Given the description of an element on the screen output the (x, y) to click on. 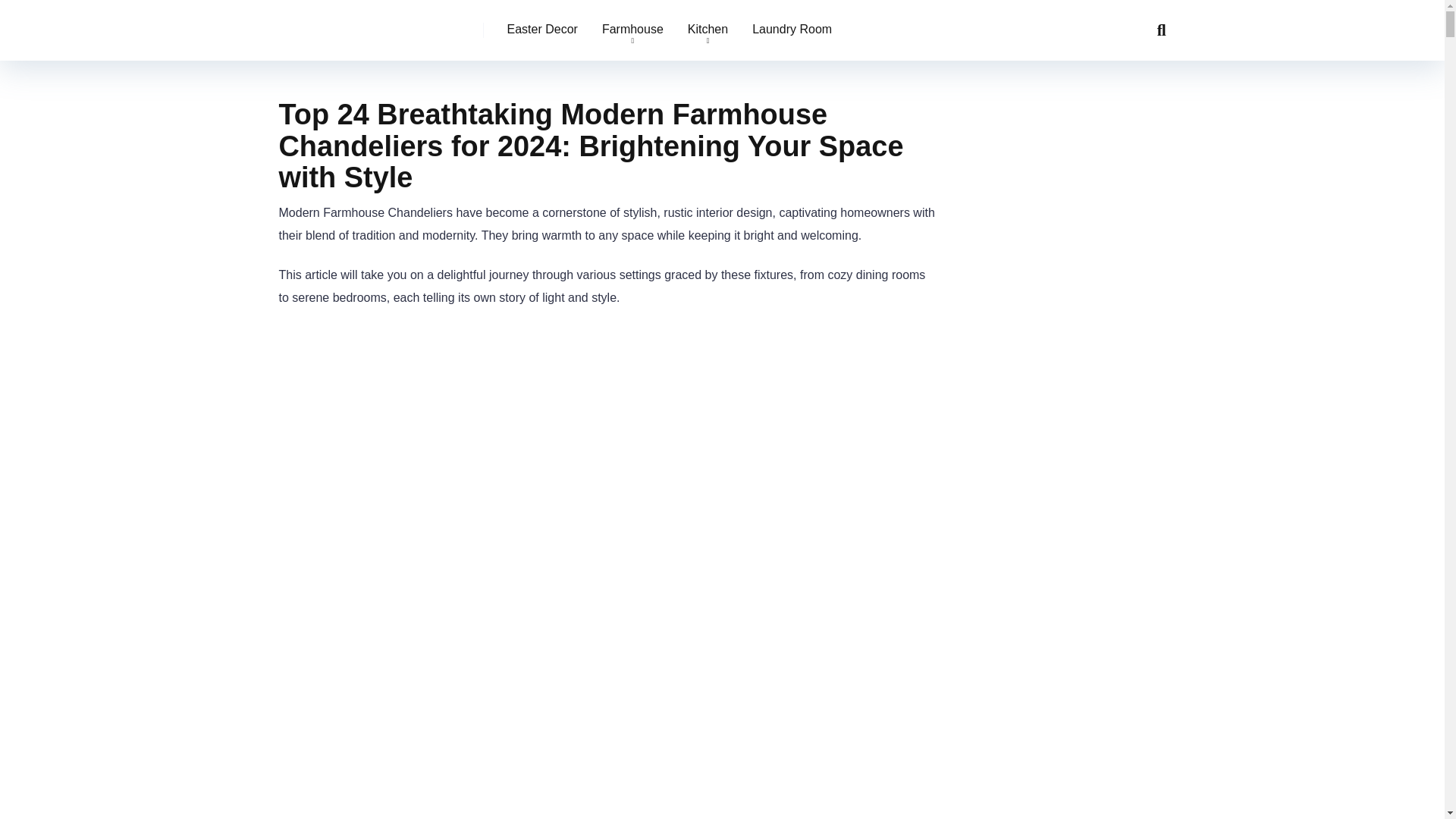
Home Design (349, 24)
Easter Decor (542, 30)
Laundry Room (791, 30)
Farmhouse (632, 30)
Kitchen (707, 30)
